Given the description of an element on the screen output the (x, y) to click on. 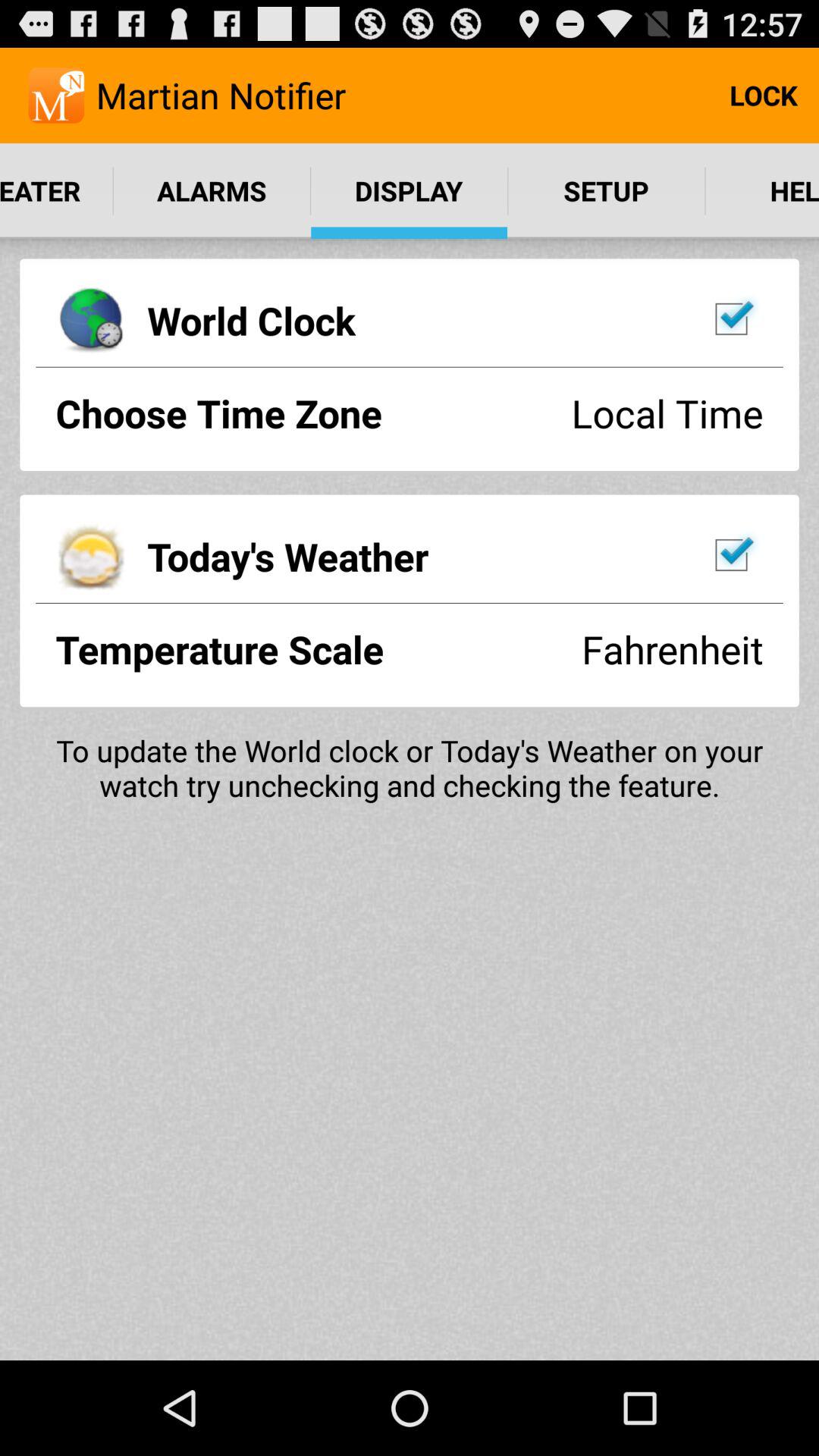
jump until the lock (763, 95)
